Given the description of an element on the screen output the (x, y) to click on. 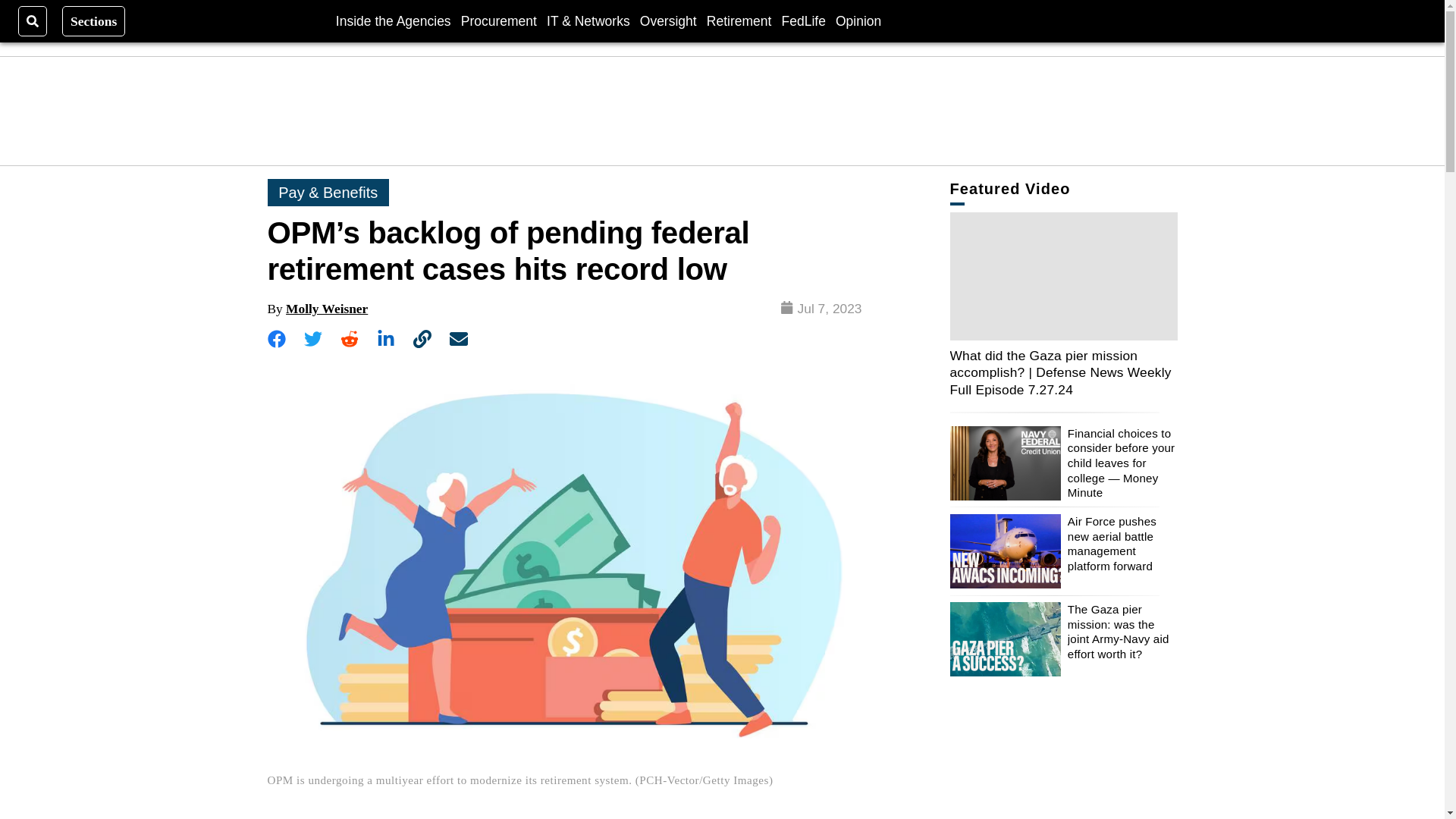
Oversight (668, 20)
Sections (93, 20)
Retirement (738, 20)
Procurement (499, 20)
Inside the Agencies (393, 20)
FedLife (802, 20)
Opinion (857, 20)
